Given the description of an element on the screen output the (x, y) to click on. 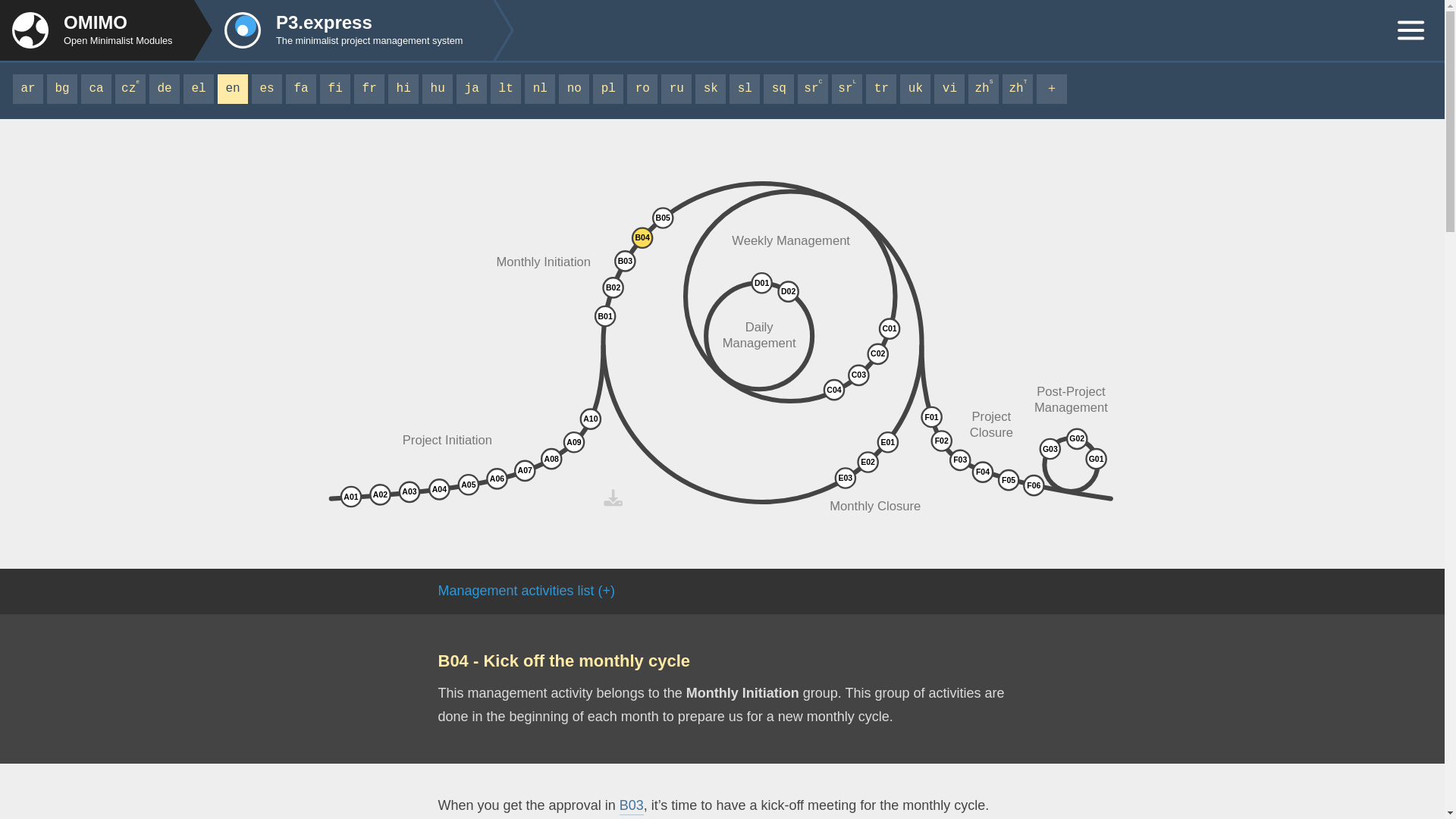
vi (948, 89)
srC (812, 89)
es (266, 89)
nl (539, 89)
de (164, 89)
cze (130, 89)
uk (914, 89)
ro (642, 89)
pl (607, 89)
hi (403, 89)
ca (96, 89)
el (198, 89)
zhS (983, 89)
fr (368, 89)
ru (676, 89)
